Given the description of an element on the screen output the (x, y) to click on. 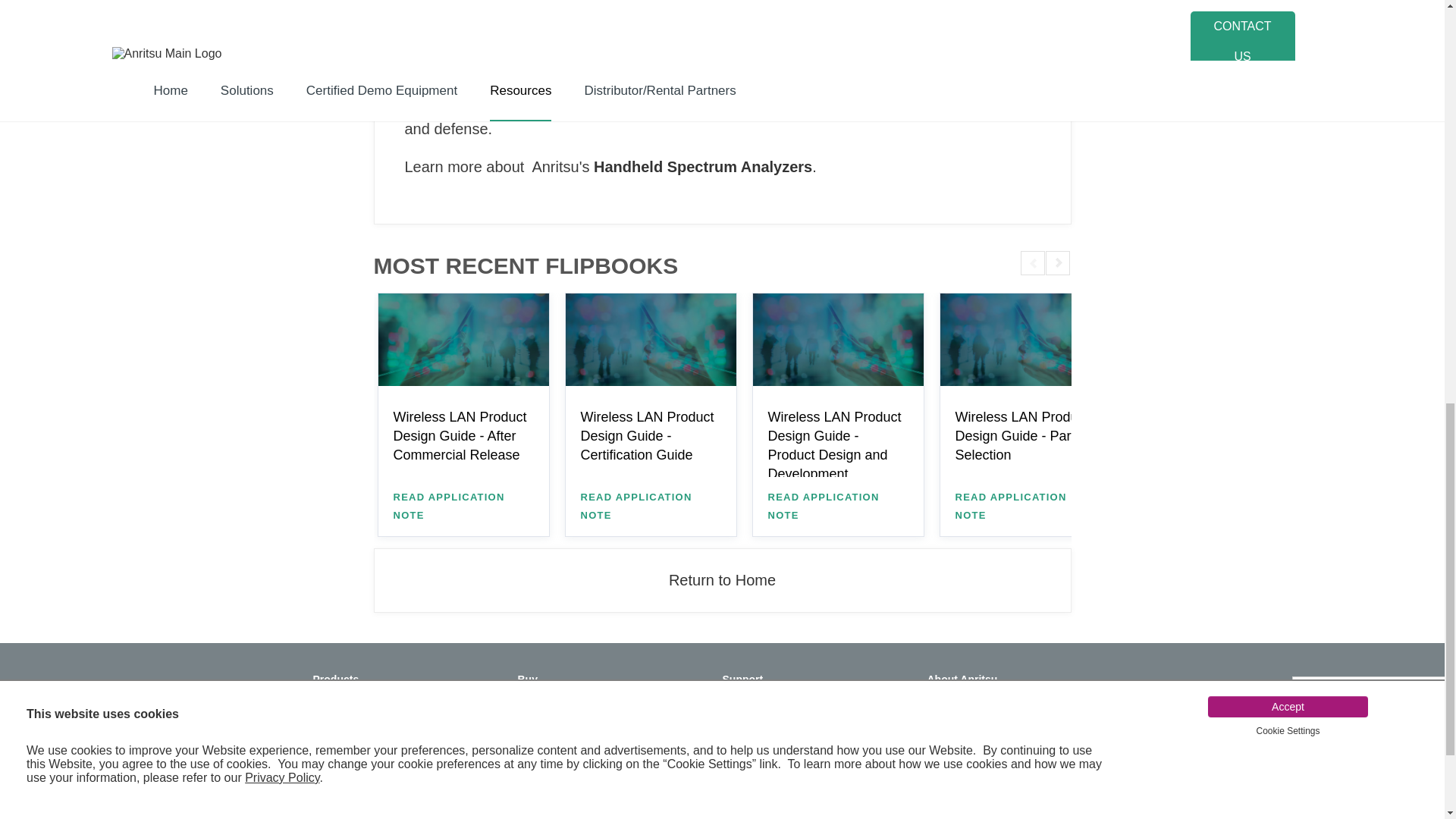
Corporate Information (1009, 717)
Sustainability (1009, 767)
Contact Sales (600, 788)
Employment (1009, 734)
Investor Relations (1009, 751)
Repair and Calibration (805, 701)
Submit Technical Question (805, 751)
Employment (1009, 784)
News (1009, 701)
Request a Quote (600, 701)
